Given the description of an element on the screen output the (x, y) to click on. 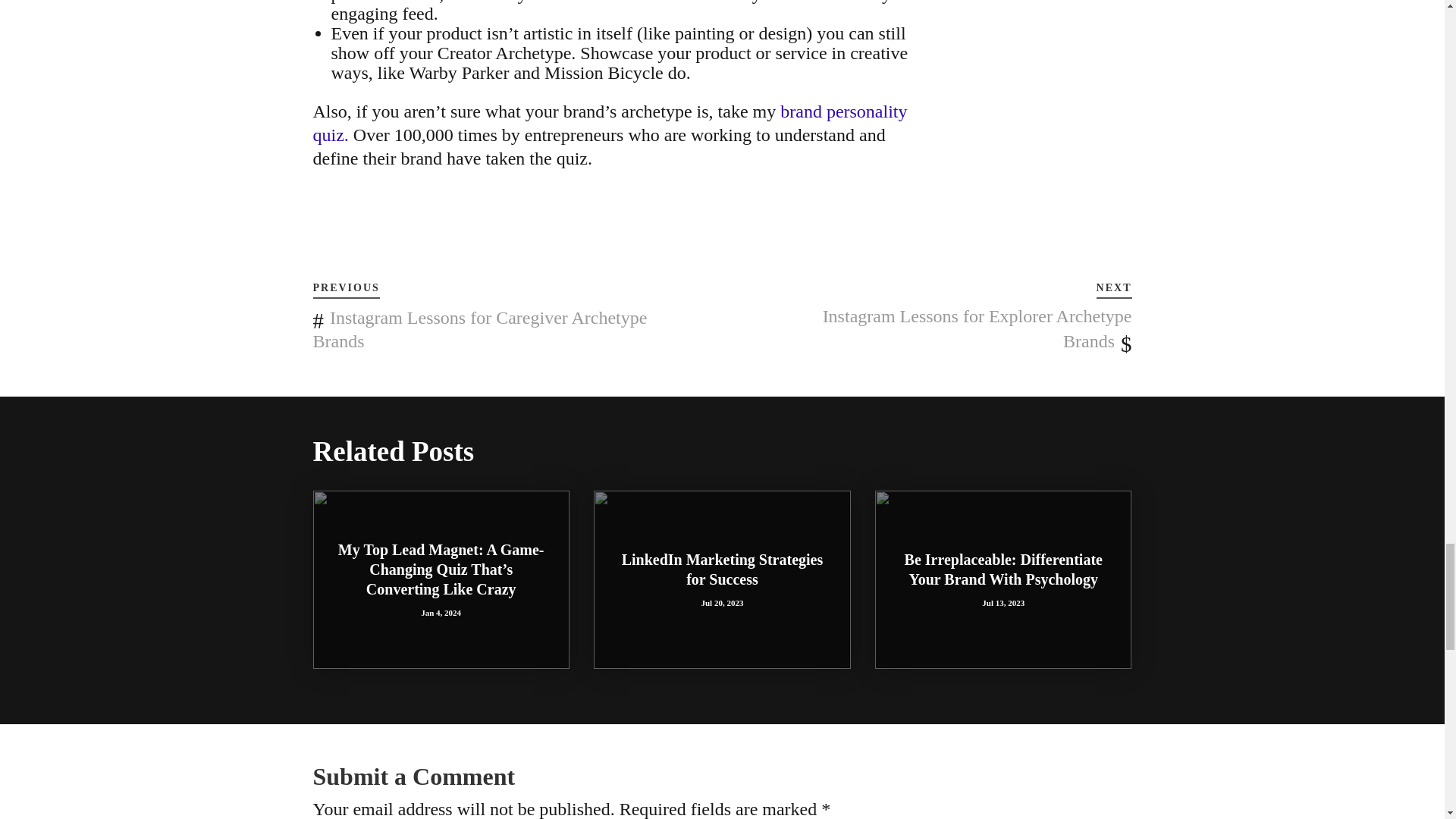
Instagram Lessons for Caregiver Archetype Brands (479, 329)
Instagram Lessons for Explorer Archetype Brands (977, 328)
Be Irreplaceable: Differentiate Your Brand With Psychology (1003, 569)
brand personality quiz. (610, 122)
LinkedIn Marketing Strategies for Success (722, 569)
